Given the description of an element on the screen output the (x, y) to click on. 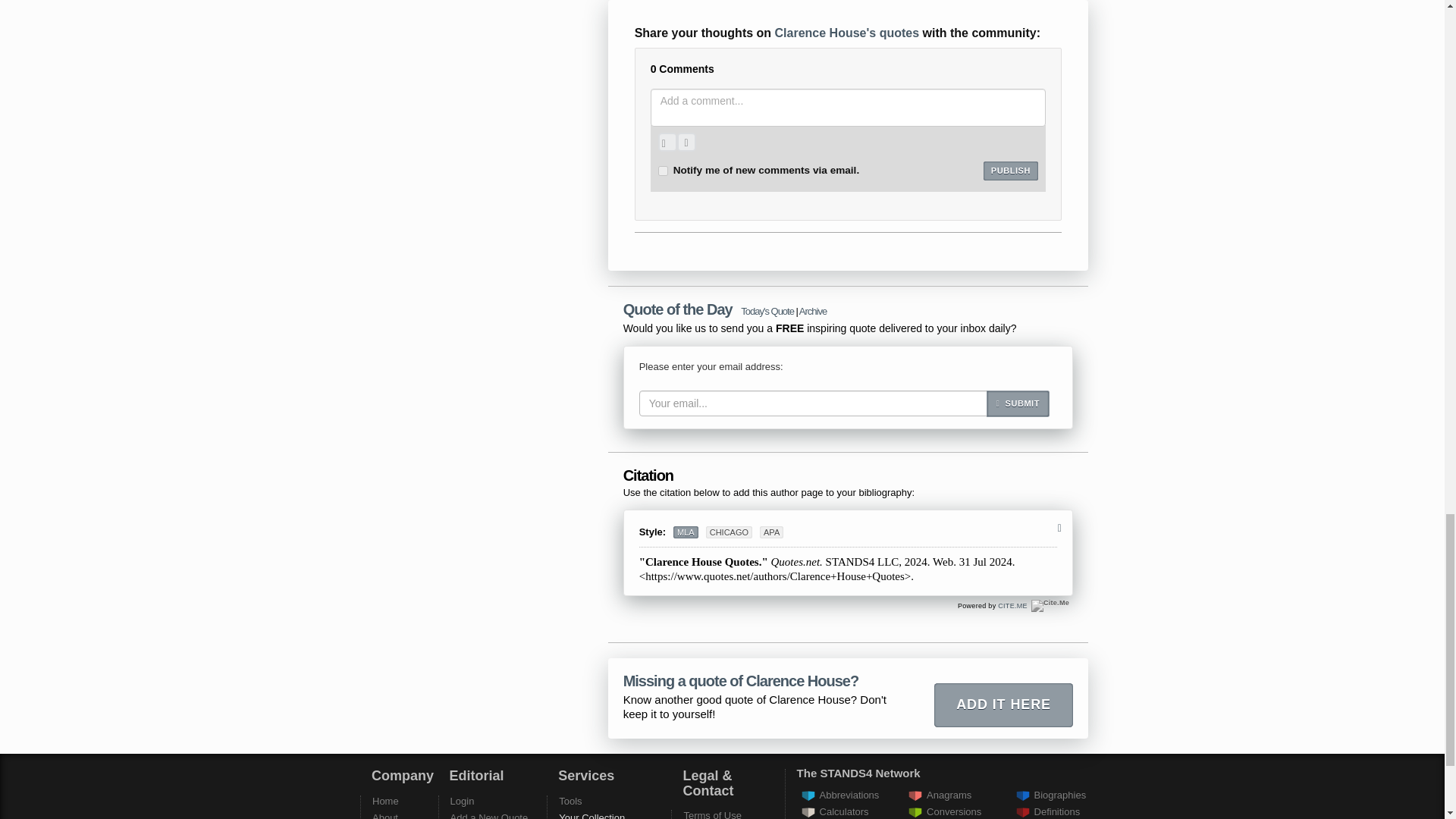
Cite.Me (1049, 605)
Cite.Me (1050, 605)
Record a sound (686, 141)
Cite.Me (1012, 605)
Upload an image (667, 141)
on (663, 171)
